Given the description of an element on the screen output the (x, y) to click on. 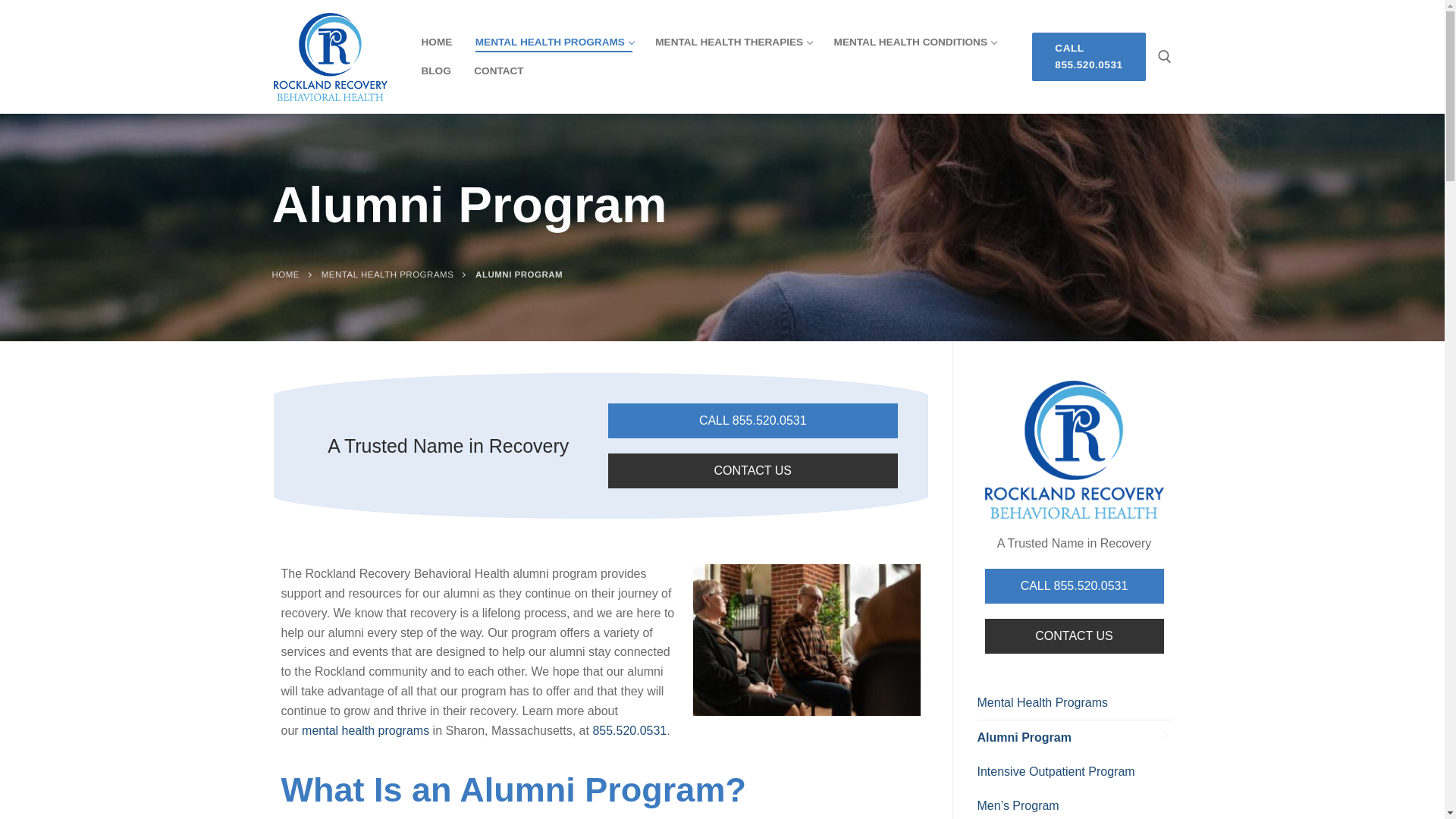
CALL 855.520.0531 (553, 41)
CONTACT (1088, 56)
HOME (498, 70)
BLOG (914, 41)
